Given the description of an element on the screen output the (x, y) to click on. 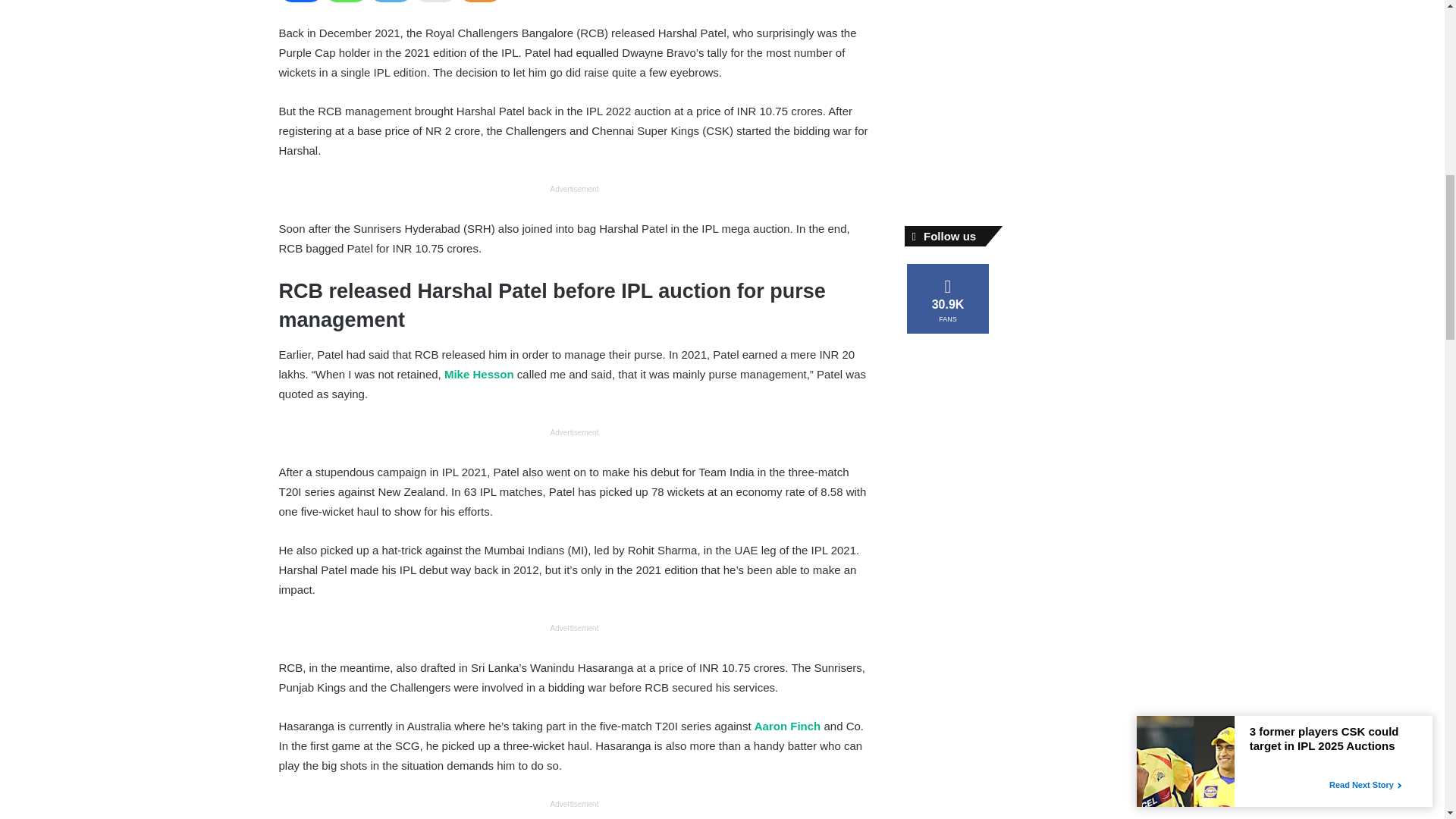
Mike Hesson (478, 373)
Whatsapp (345, 1)
Twitter (390, 1)
More (480, 1)
Facebook (301, 1)
Google Gmail (434, 1)
Aaron Finch (787, 725)
